Given the description of an element on the screen output the (x, y) to click on. 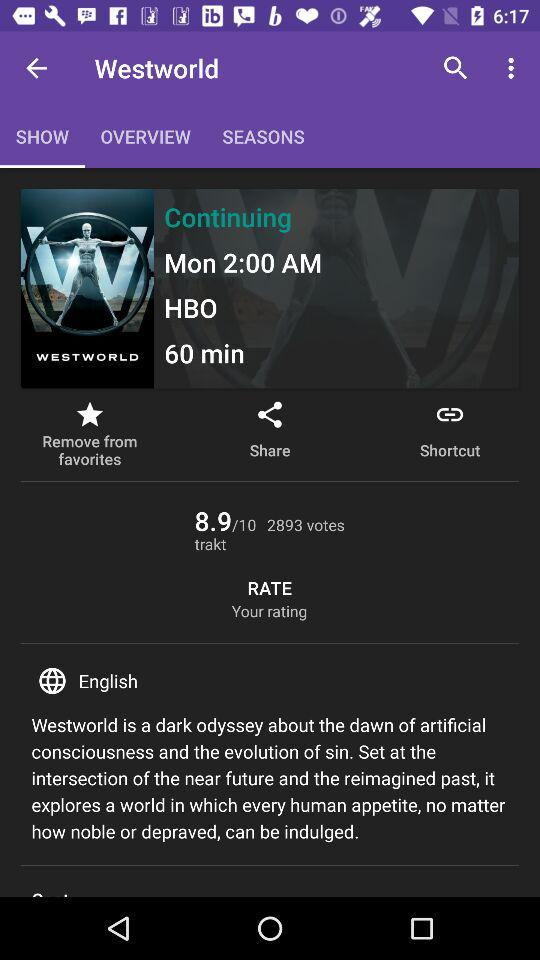
turn off the item to the left of share icon (90, 434)
